Given the description of an element on the screen output the (x, y) to click on. 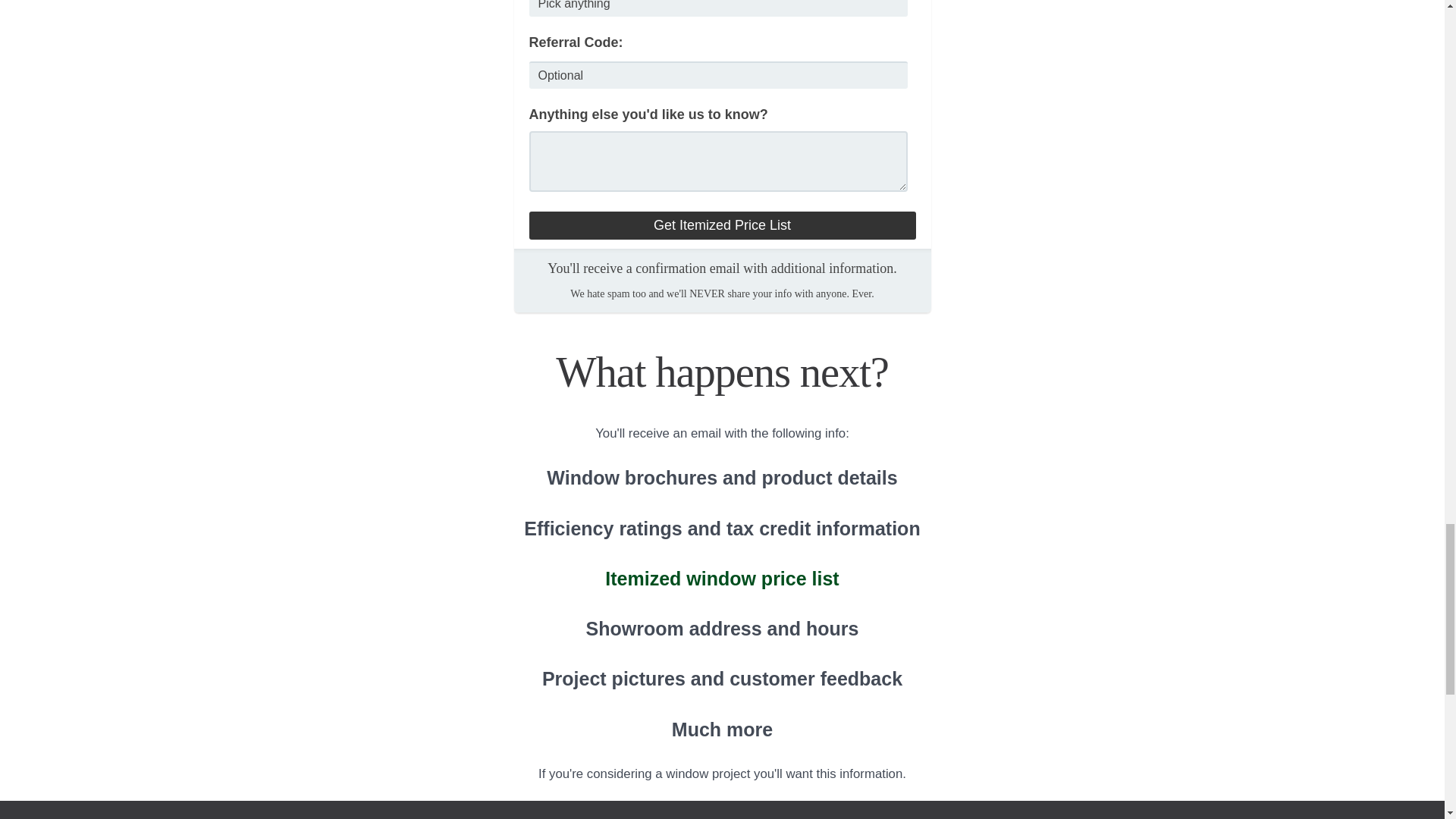
Get Itemized Price List (722, 225)
Optional (718, 74)
Pick anything (718, 8)
Get Itemized Price List (722, 225)
